Given the description of an element on the screen output the (x, y) to click on. 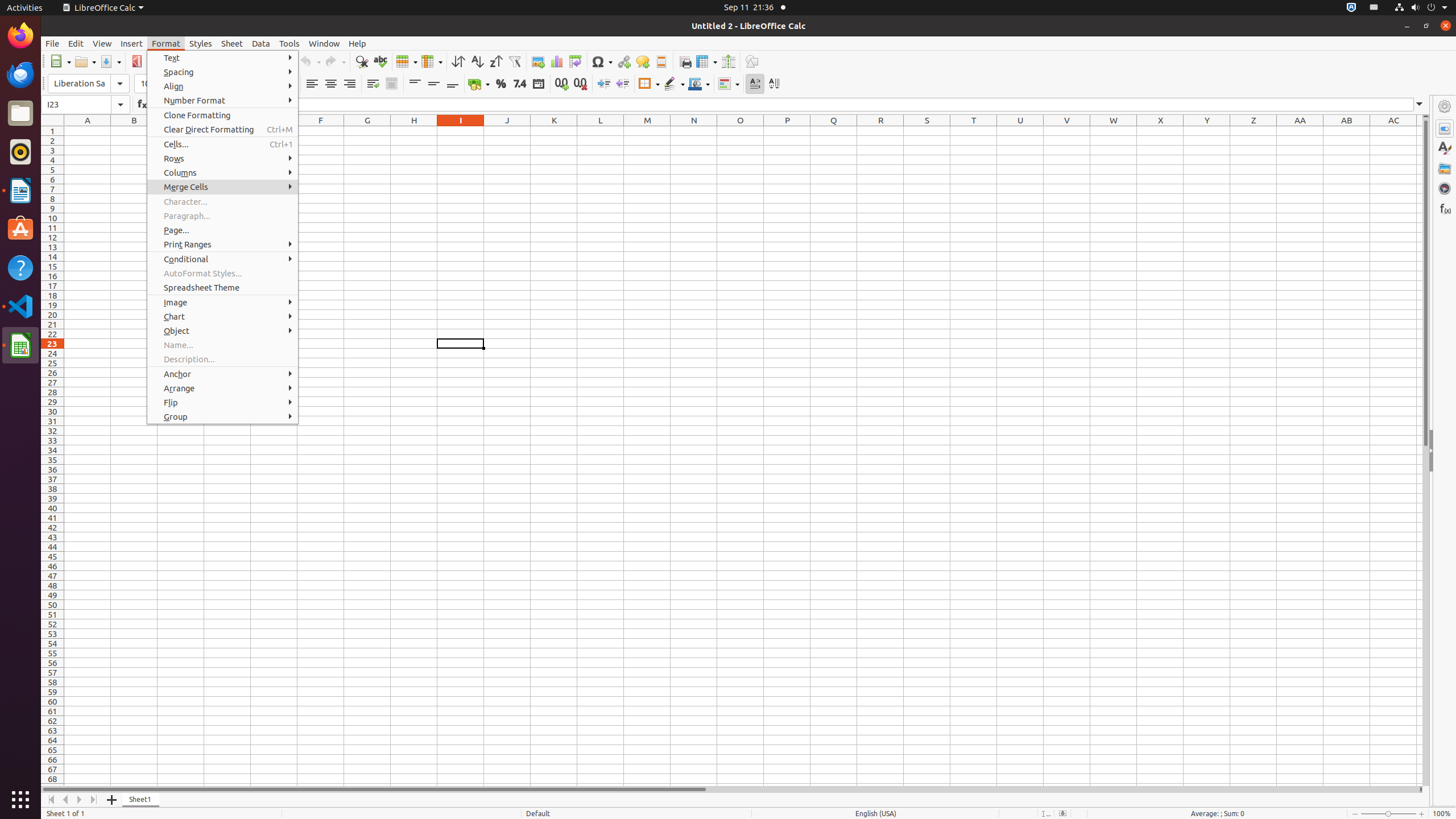
Number Format Element type: menu (222, 100)
Print Ranges Element type: menu (222, 244)
H1 Element type: table-cell (413, 130)
Align Bottom Element type: push-button (452, 83)
